Given the description of an element on the screen output the (x, y) to click on. 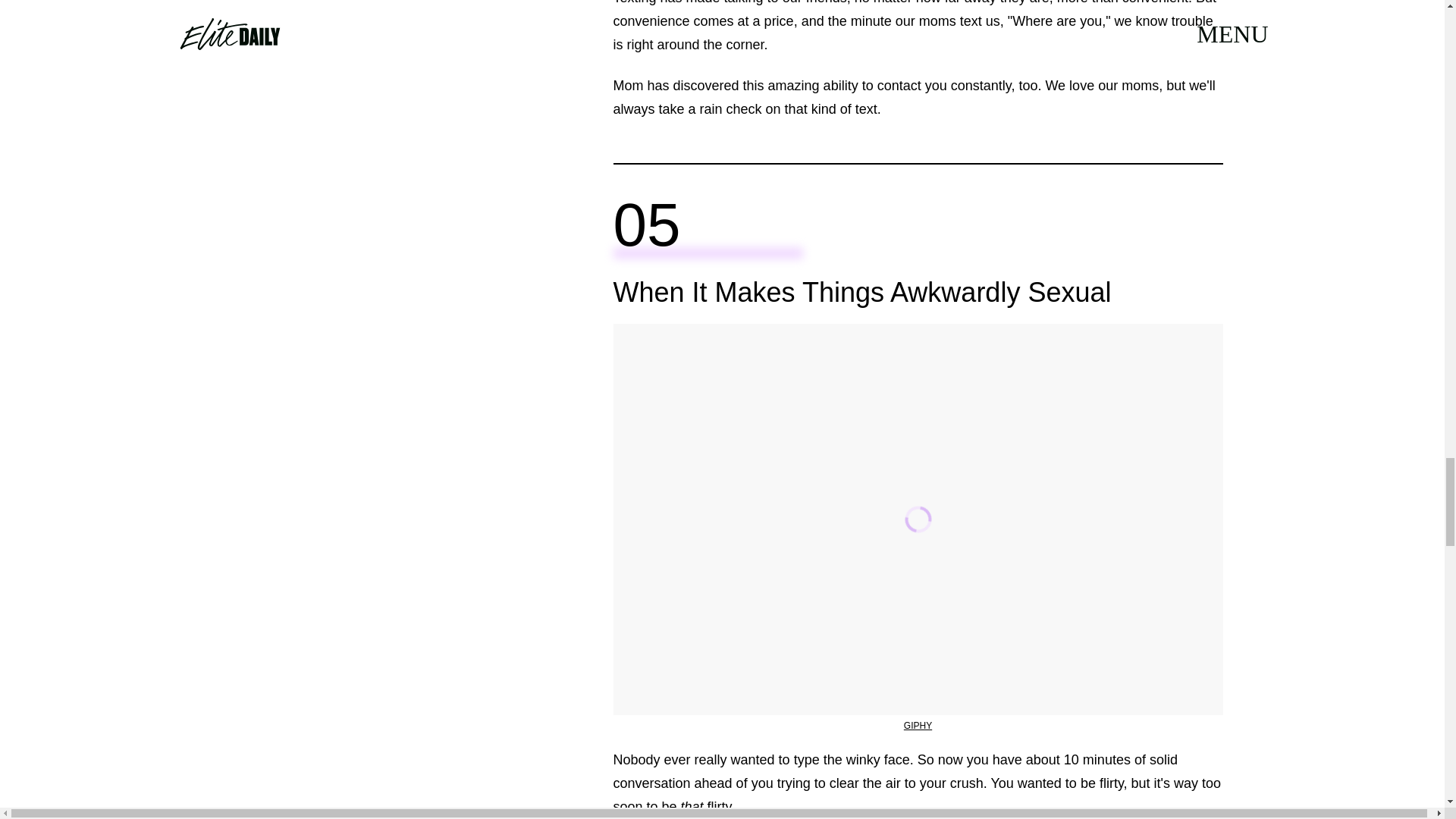
GIPHY (917, 725)
